Given the description of an element on the screen output the (x, y) to click on. 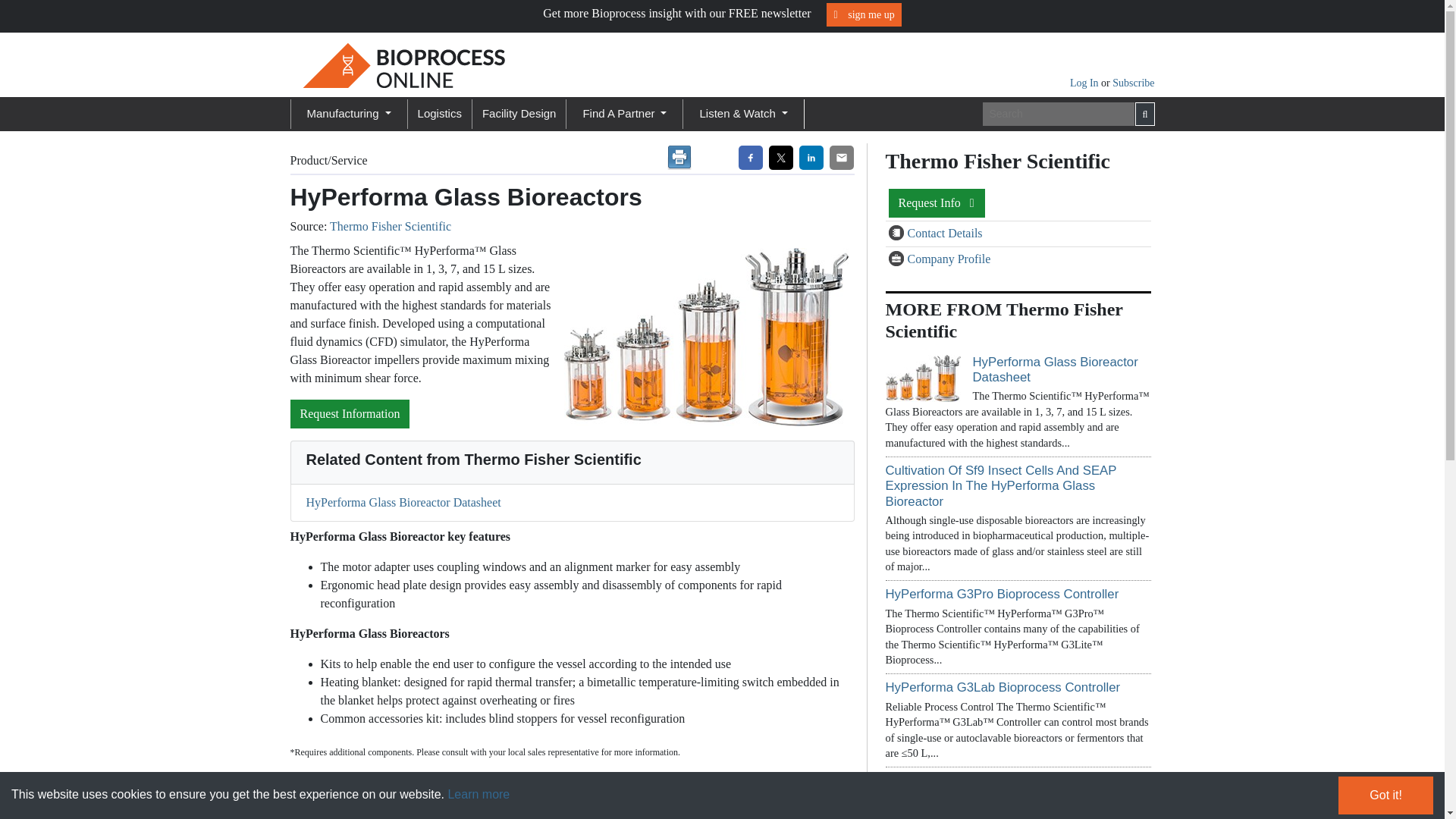
Print (679, 157)
Company Profile (948, 258)
Subscribe (1133, 82)
Logistics (439, 113)
sign me up (864, 14)
HyPerforma Glass Bioreactor Datasheet (1054, 369)
HyPerforma G3Lab Bioprocess Controller (1003, 687)
Thermo Fisher Scientific (390, 226)
Manufacturing (347, 113)
Find A Partner (624, 113)
